Given the description of an element on the screen output the (x, y) to click on. 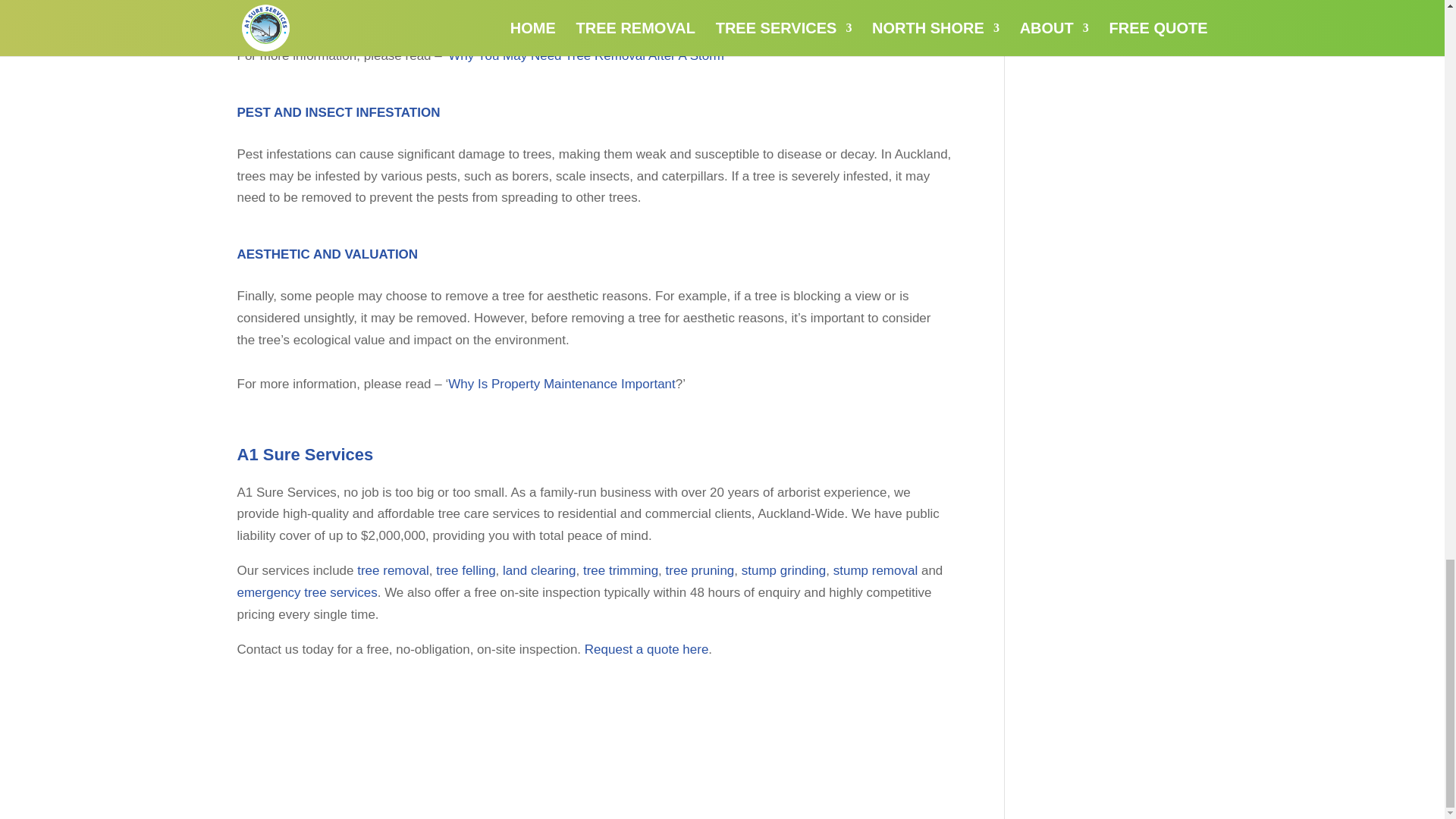
Why You May Need Tree Removal After A Storm (585, 55)
Why Is Property Maintenance Important (561, 383)
Get in touch (547, 2)
